Given the description of an element on the screen output the (x, y) to click on. 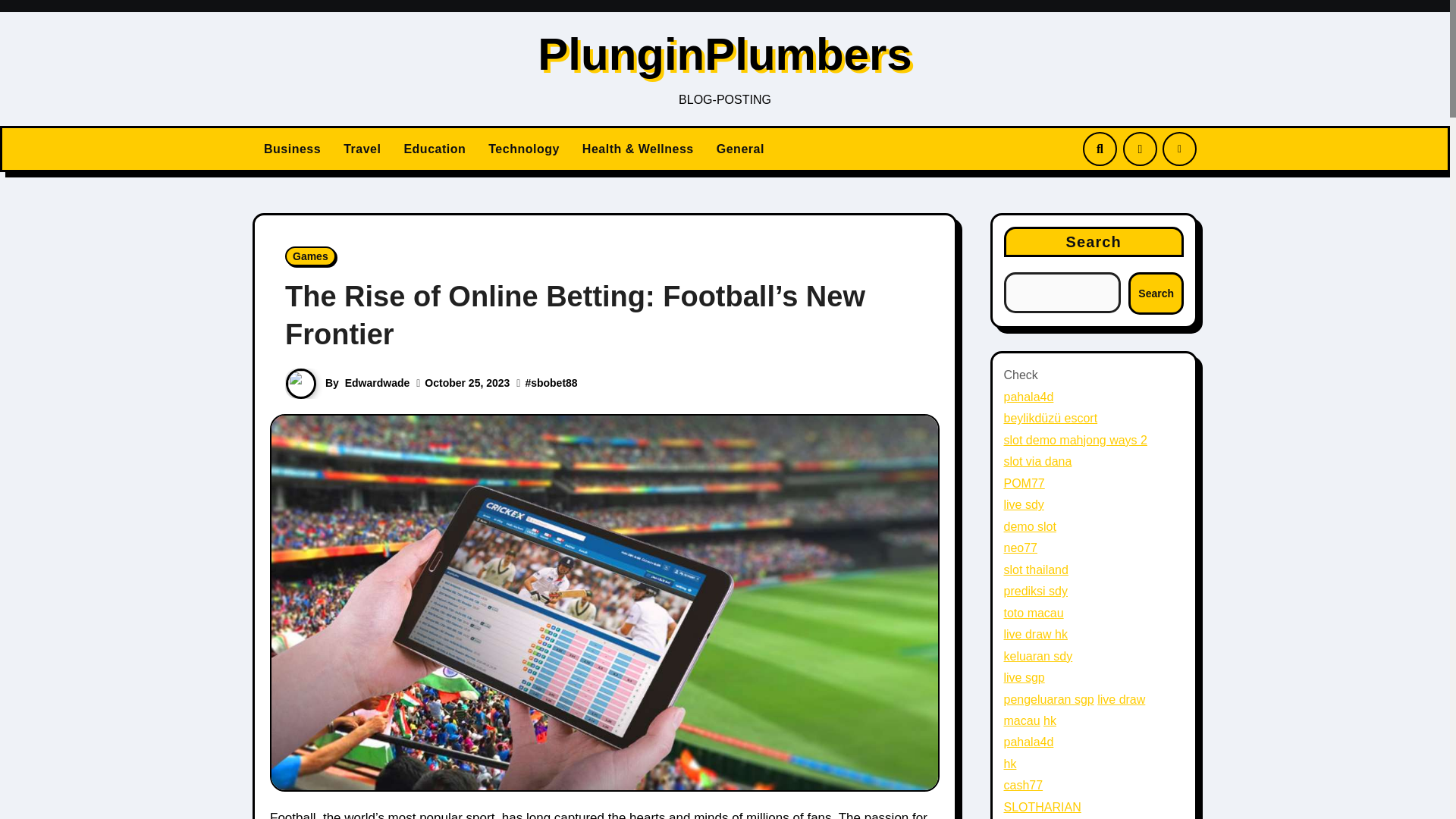
October 25, 2023 (467, 382)
sbobet88 (553, 382)
Travel (361, 149)
Education (434, 149)
Education (434, 149)
PlunginPlumbers (724, 53)
General (740, 149)
Business (291, 149)
Technology (523, 149)
Technology (523, 149)
Edwardwade (377, 382)
Games (310, 256)
General (740, 149)
Business (291, 149)
Travel (361, 149)
